Given the description of an element on the screen output the (x, y) to click on. 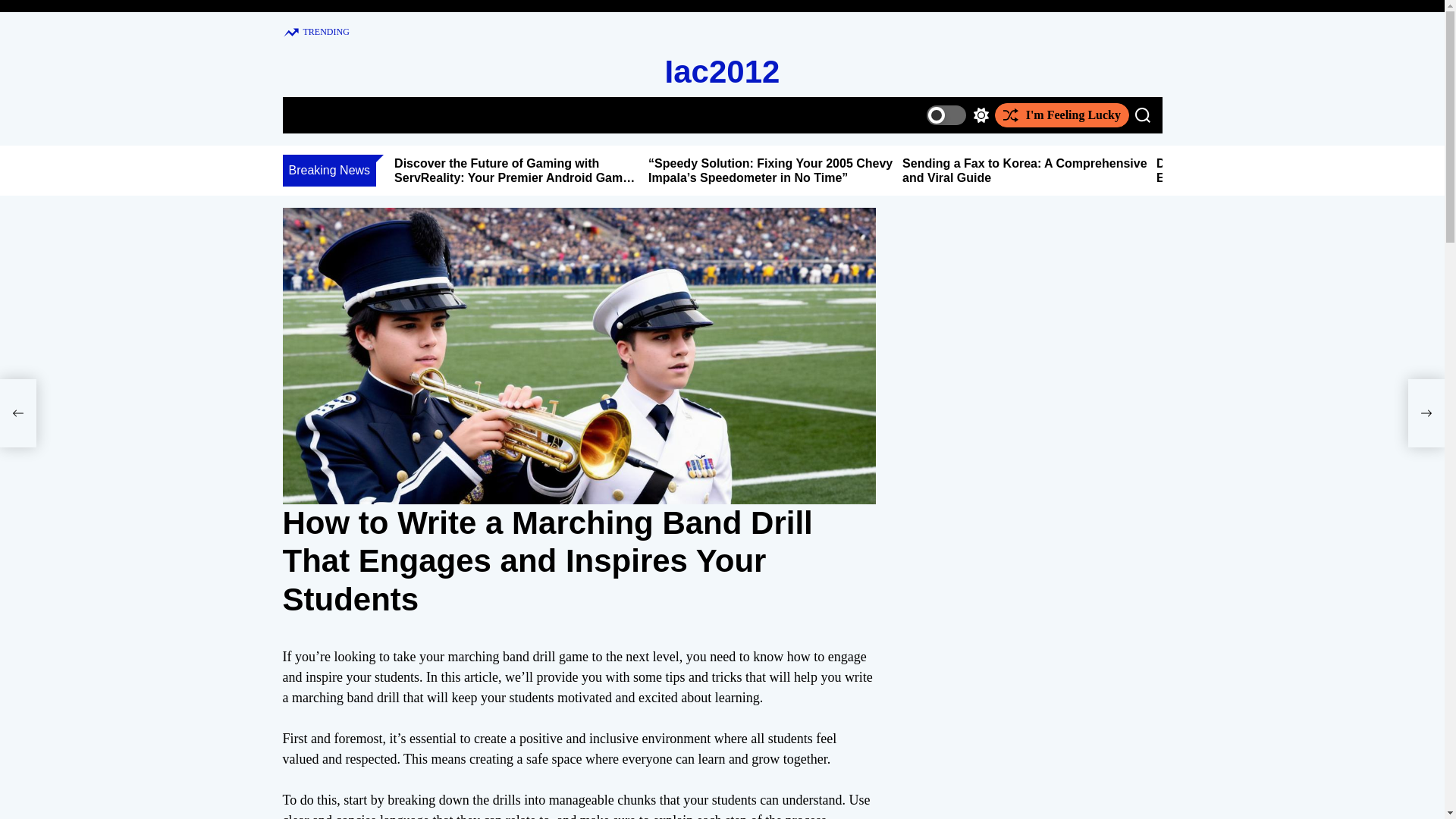
I'm Feeling Lucky (1061, 115)
Search (1142, 114)
Switch color mode (957, 115)
Iac2012 (722, 71)
Sending a Fax to Korea: A Comprehensive and Viral Guide (1024, 170)
